Given the description of an element on the screen output the (x, y) to click on. 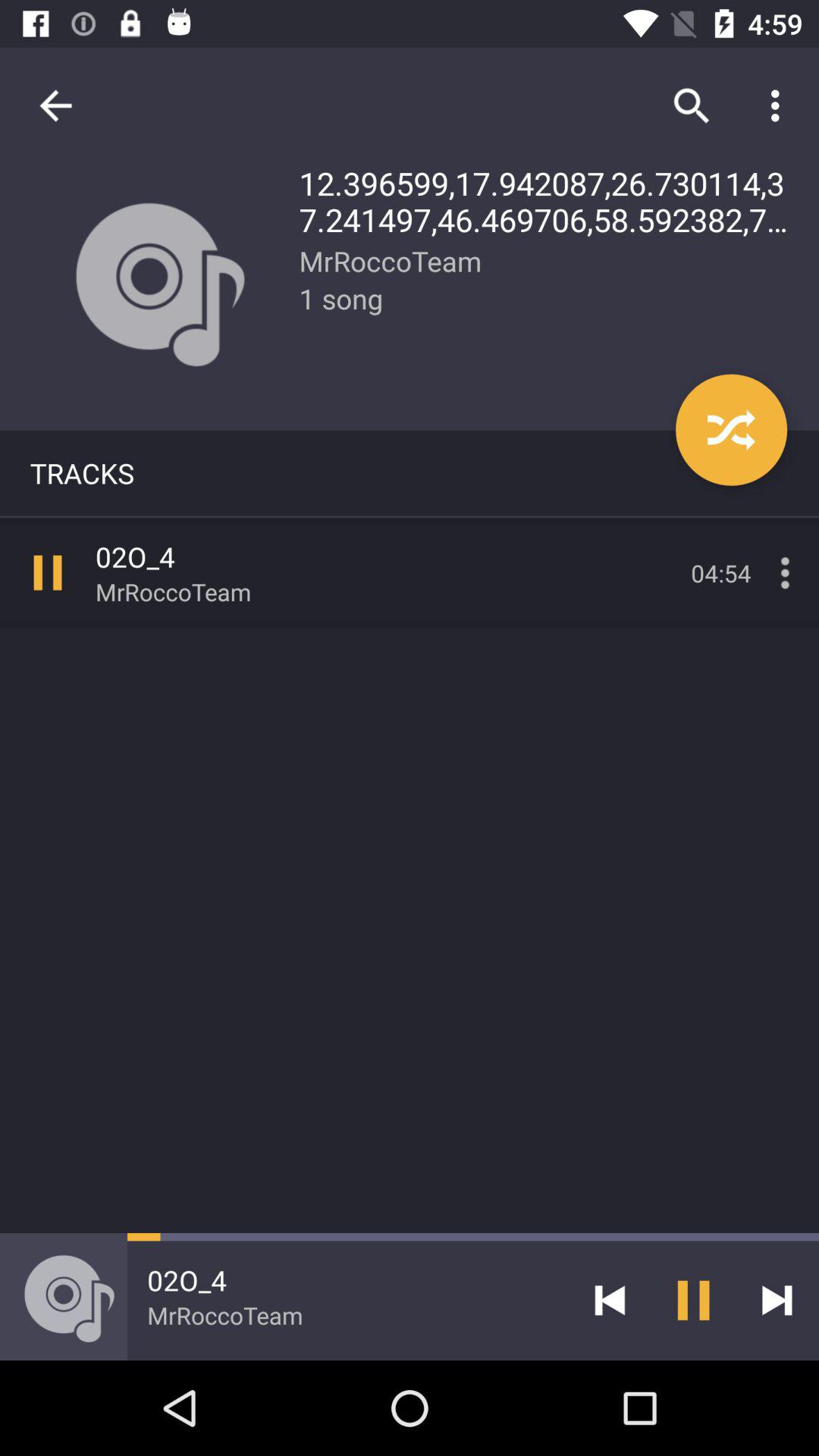
launch the item next to the 02o_4 icon (609, 1300)
